Given the description of an element on the screen output the (x, y) to click on. 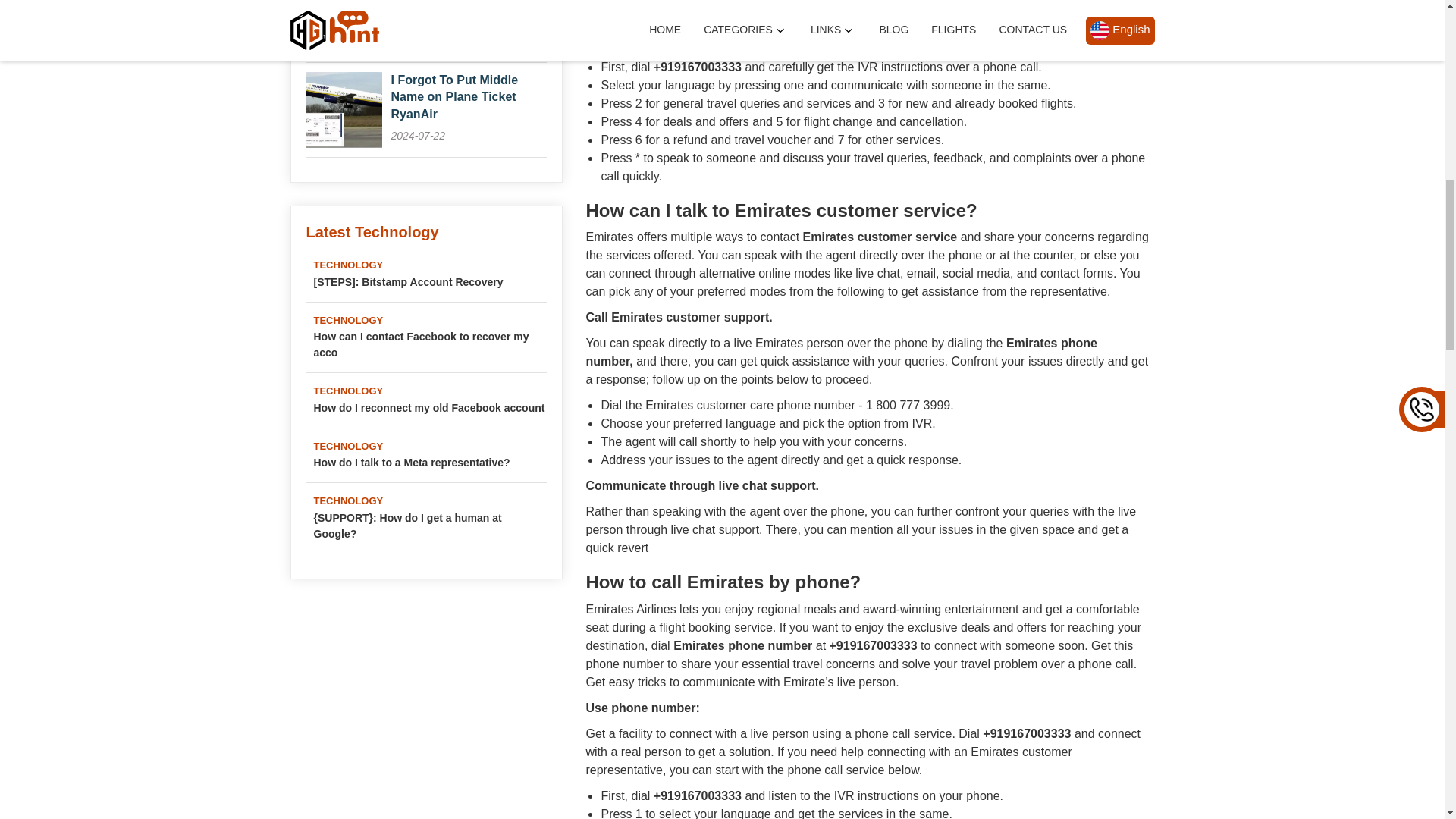
How do I talk to a Meta representative? (430, 462)
I Forgot To Put Middle Name on Plane Ticket RyanAir (454, 97)
How can I contact Facebook to recover my acco (430, 345)
How do I reconnect my old Facebook account (430, 408)
